Given the description of an element on the screen output the (x, y) to click on. 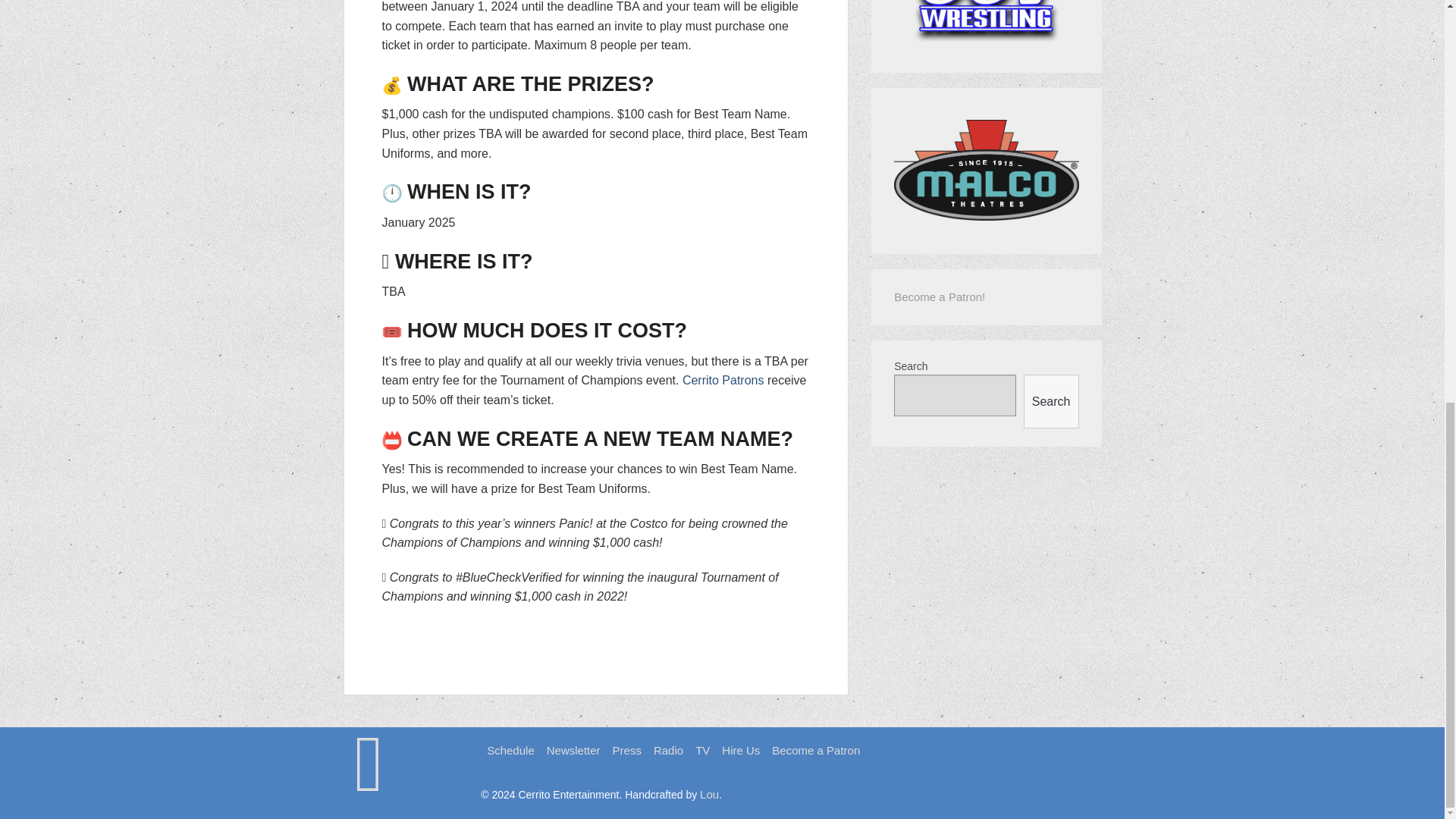
Cerrito Entertainment (369, 786)
Cerrito Patrons (723, 379)
Lou (709, 793)
